Given the description of an element on the screen output the (x, y) to click on. 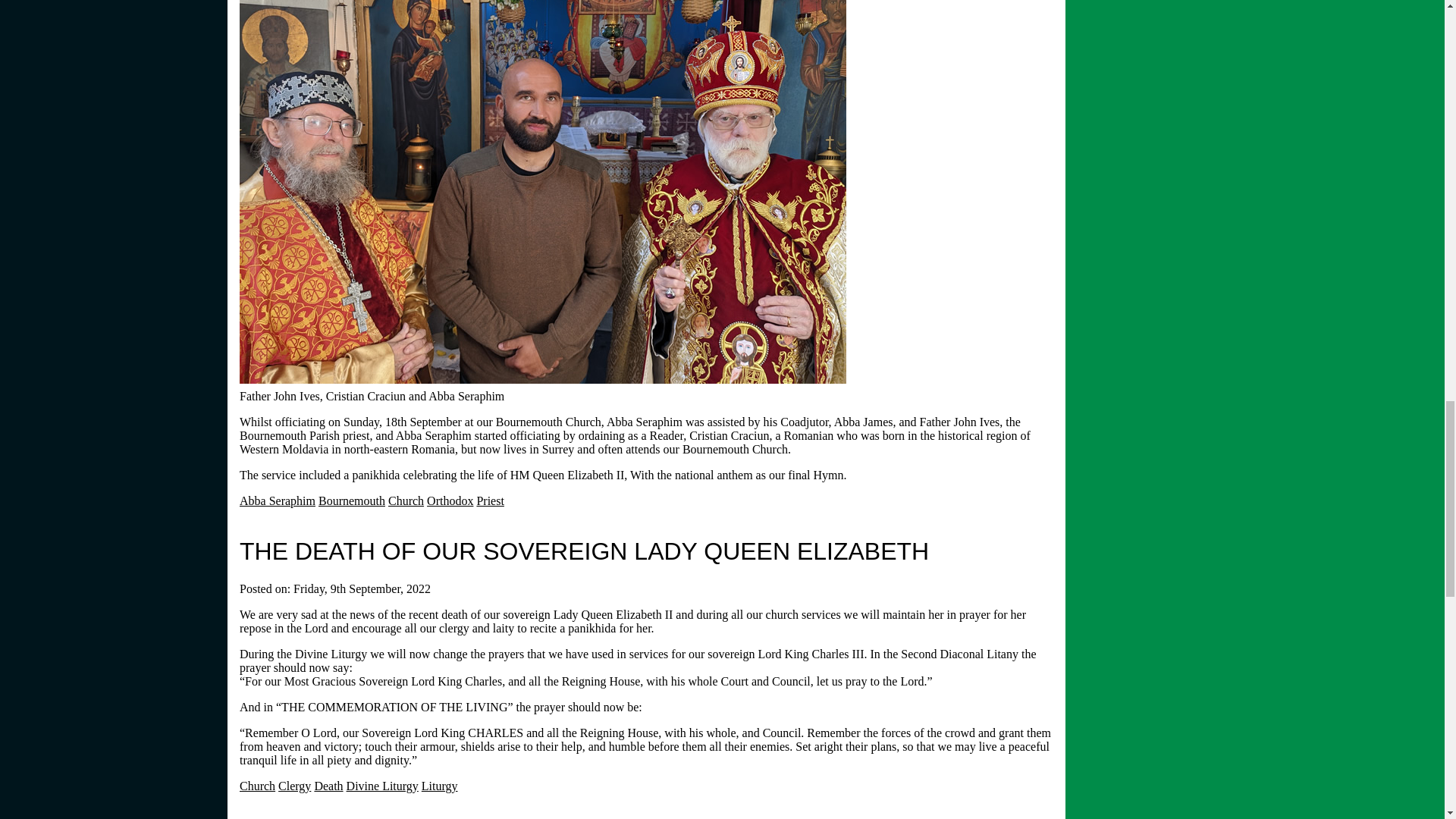
THE DEATH OF OUR SOVEREIGN LADY QUEEN ELIZABETH (584, 551)
Orthodox (449, 500)
THE DEATH OF OUR SOVEREIGN LADY QUEEN ELIZABETH (584, 551)
Divine Liturgy (382, 785)
Church (257, 785)
Liturgy (440, 785)
Clergy (294, 785)
Bournemouth (351, 500)
Church (405, 500)
Priest (489, 500)
Death (328, 785)
Abba Seraphim (277, 500)
